Given the description of an element on the screen output the (x, y) to click on. 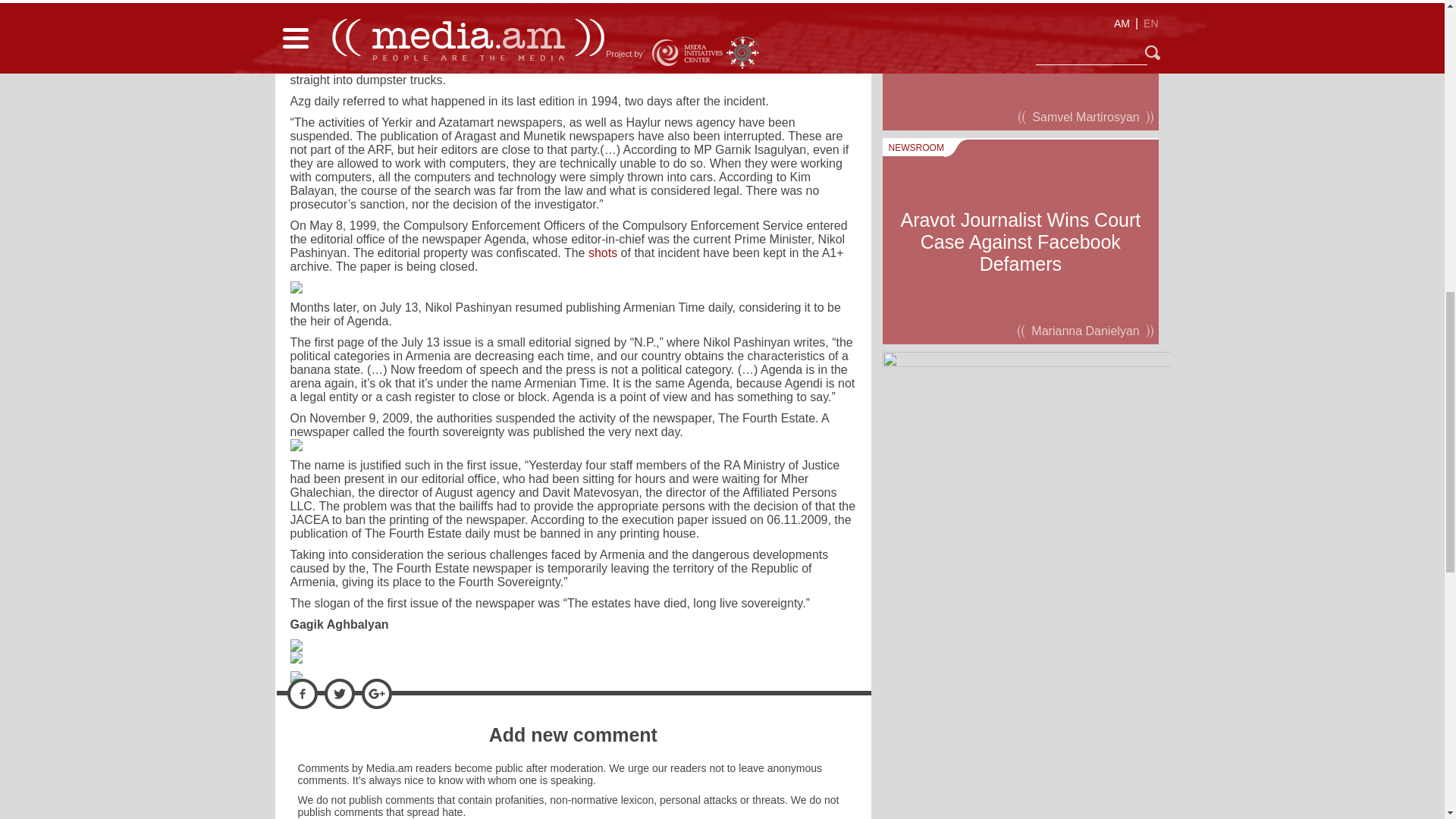
shots (602, 252)
